Given the description of an element on the screen output the (x, y) to click on. 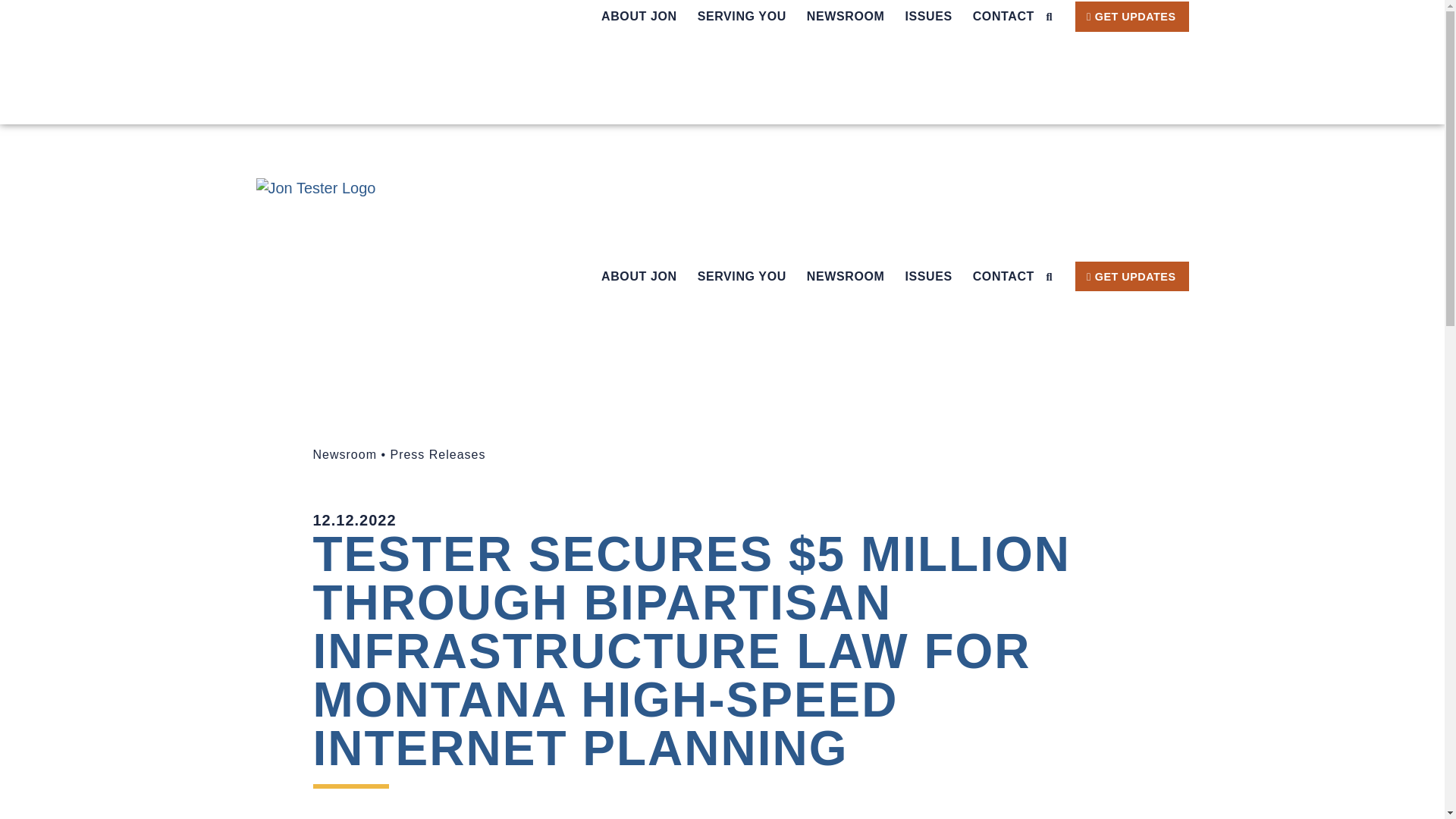
ABOUT JON (639, 16)
CONTACT (1002, 16)
ISSUES (928, 16)
NEWSROOM (845, 16)
SERVING YOU (741, 16)
